Given the description of an element on the screen output the (x, y) to click on. 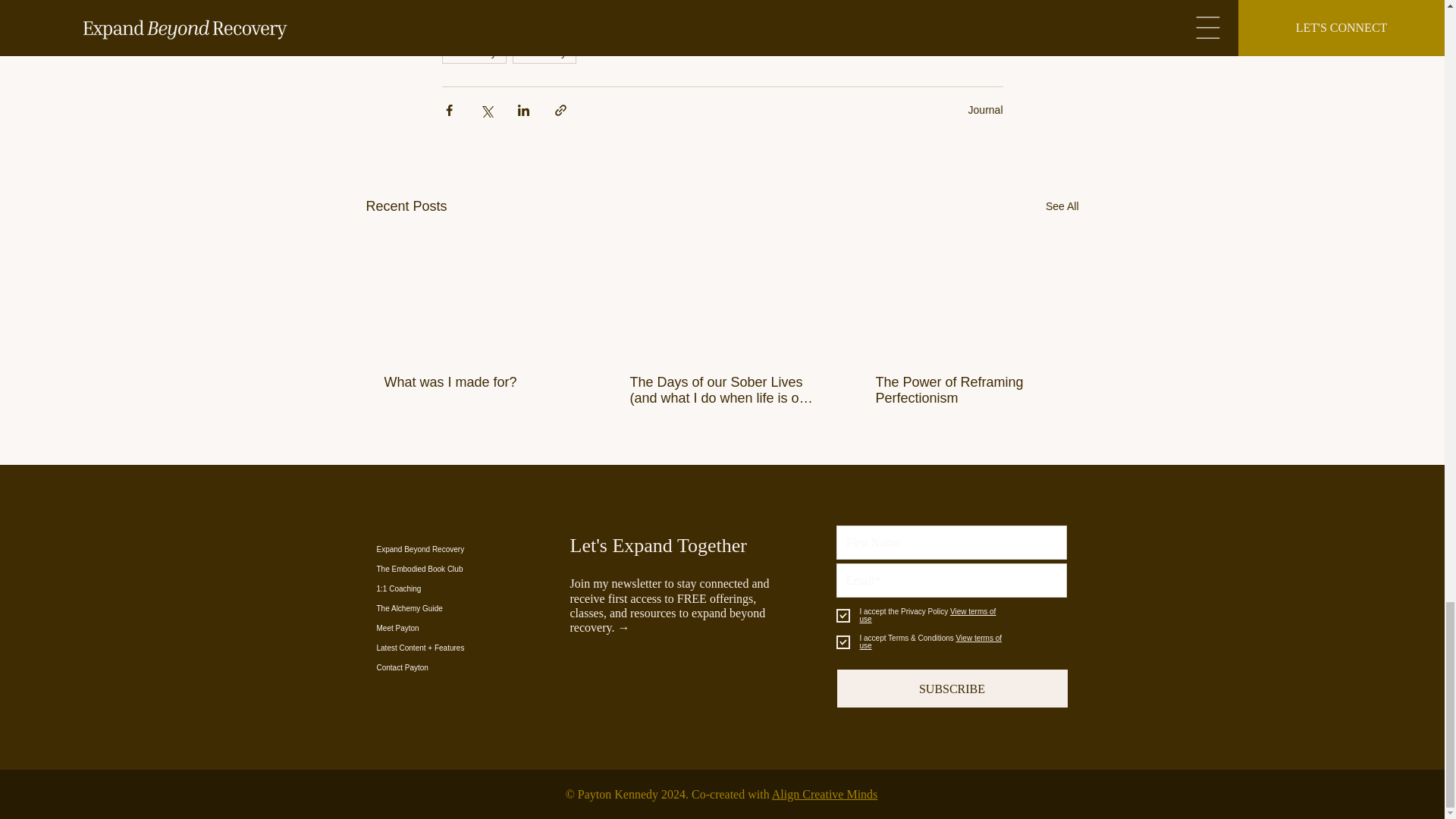
View terms of use (927, 615)
1:1 Coaching (493, 588)
Align Creative Minds (824, 793)
Creativity (544, 51)
Meet Payton (493, 628)
Expand Beyond Recovery (493, 549)
Contact Payton (493, 668)
The Alchemy Guide (493, 608)
Recovery (473, 51)
SUBSCRIBE (952, 688)
What was I made for? (475, 382)
Journal (985, 110)
View terms of use (931, 641)
See All (1061, 206)
The Power of Reframing Perfectionism (966, 390)
